Given the description of an element on the screen output the (x, y) to click on. 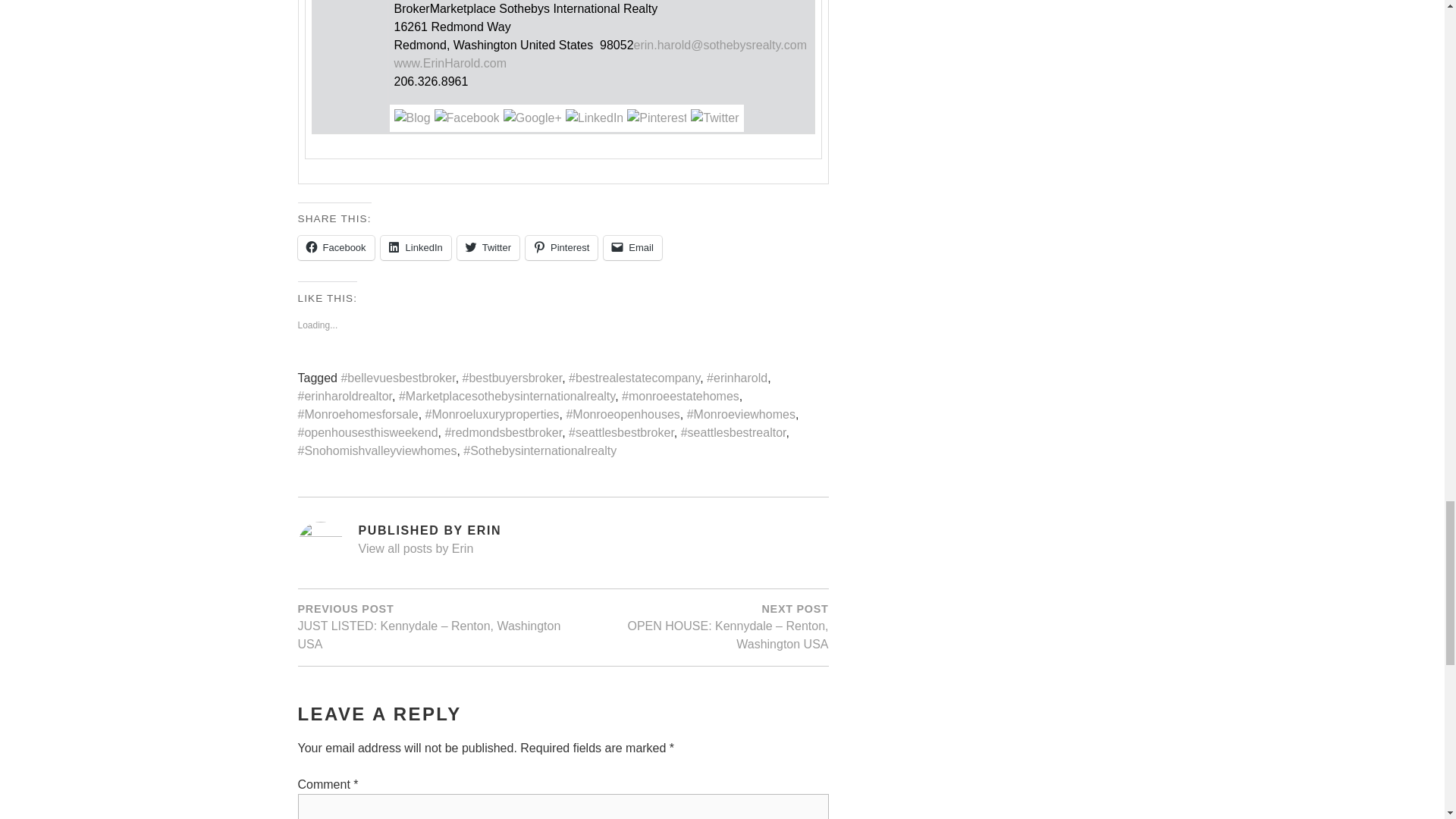
Click to email a link to a friend (633, 247)
Click to share on Pinterest (560, 247)
Click to share on Twitter (488, 247)
Facebook (335, 247)
Click to share on LinkedIn (415, 247)
Click to share on Facebook (335, 247)
www.ErinHarold.com (450, 63)
